Given the description of an element on the screen output the (x, y) to click on. 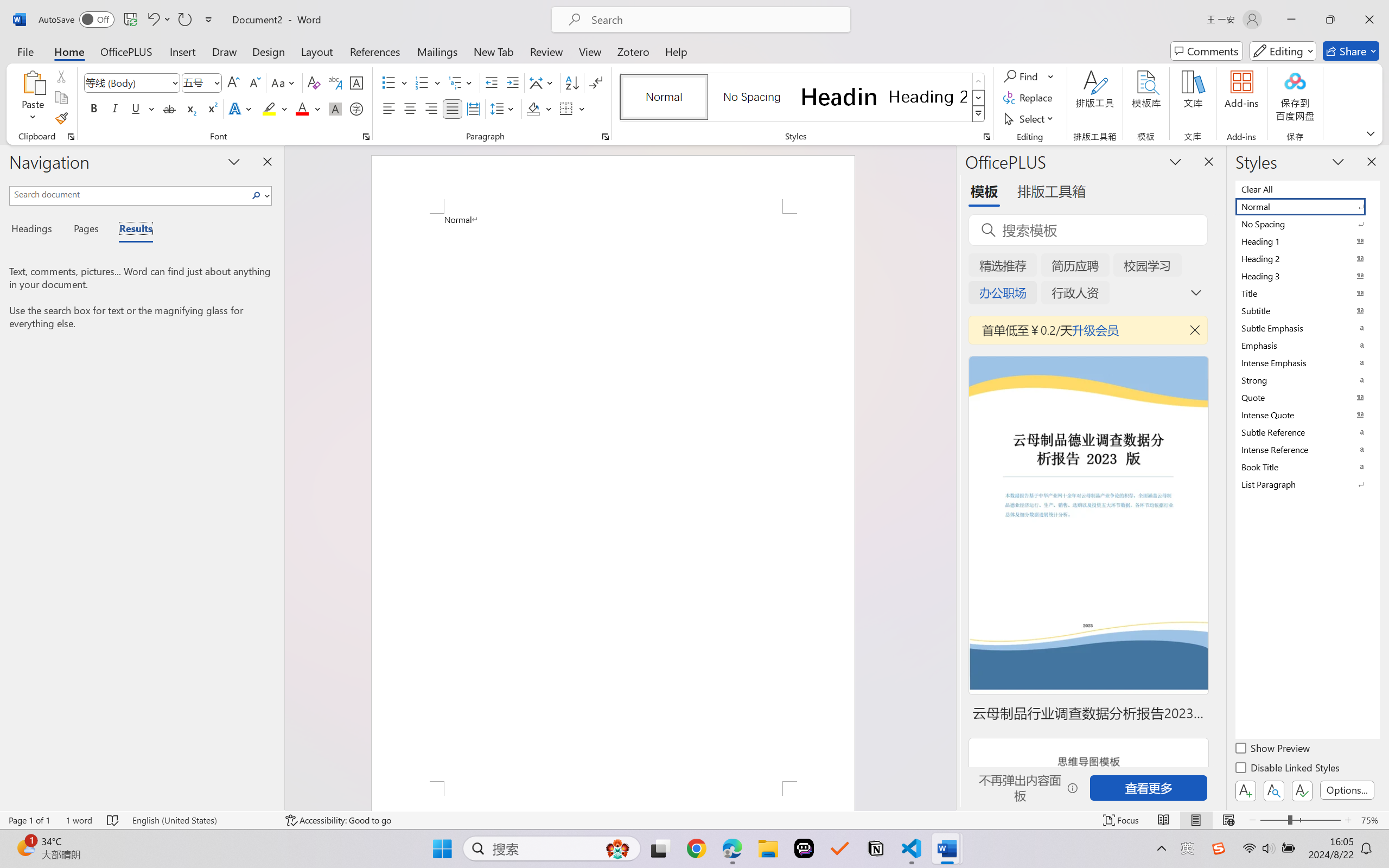
Clear Formatting (313, 82)
Zoom Out (1273, 819)
Text Effects and Typography (241, 108)
Mode (1283, 50)
Task Pane Options (1175, 161)
Row Down (978, 97)
Read Mode (1163, 819)
Styles... (986, 136)
Heading 3 (1306, 275)
Replace... (1029, 97)
Web Layout (1228, 819)
Font (132, 82)
